Given the description of an element on the screen output the (x, y) to click on. 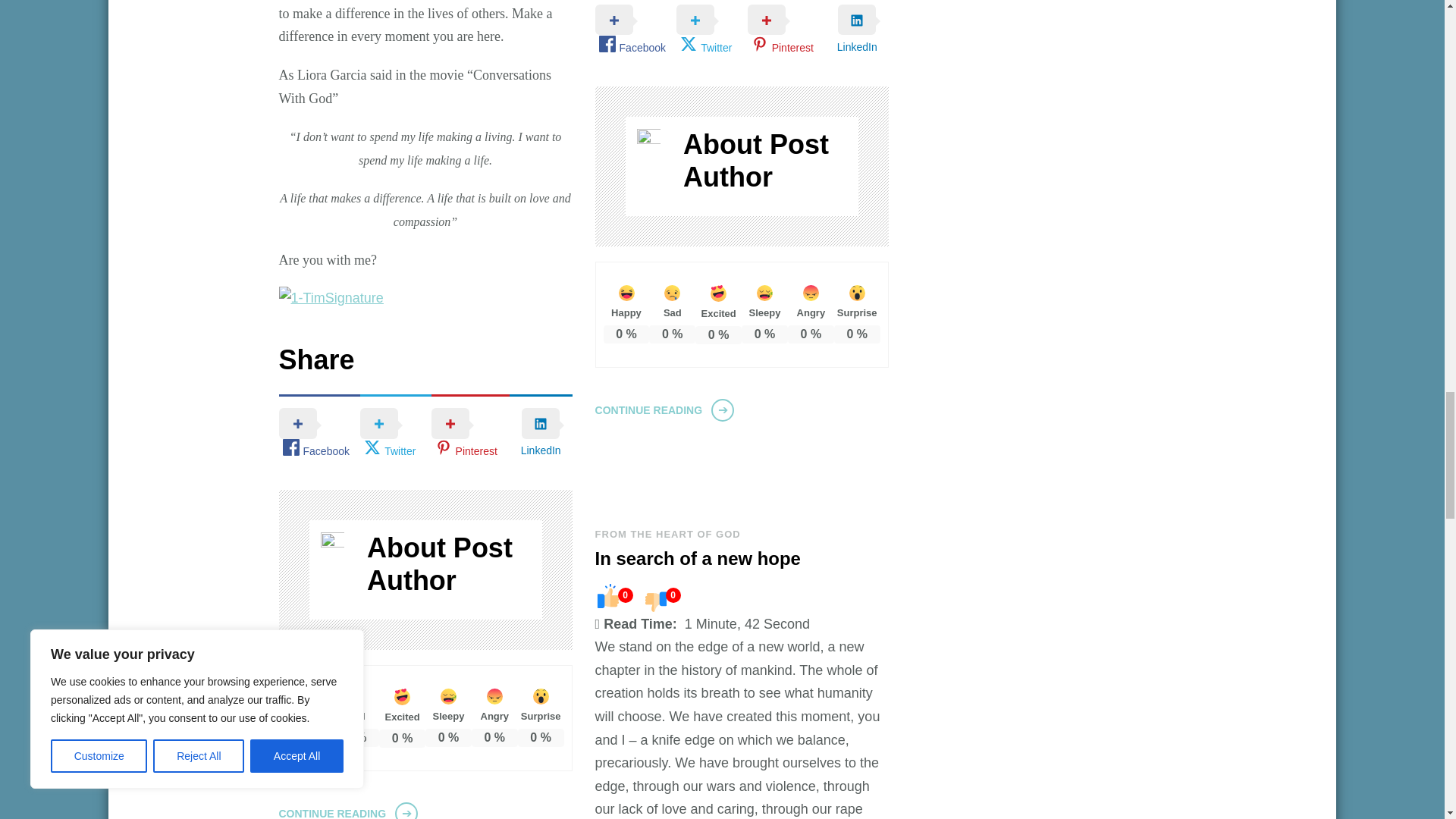
1-TimSignature (331, 298)
Facebook (320, 434)
Pinterest (469, 434)
Twitter (394, 434)
